Given the description of an element on the screen output the (x, y) to click on. 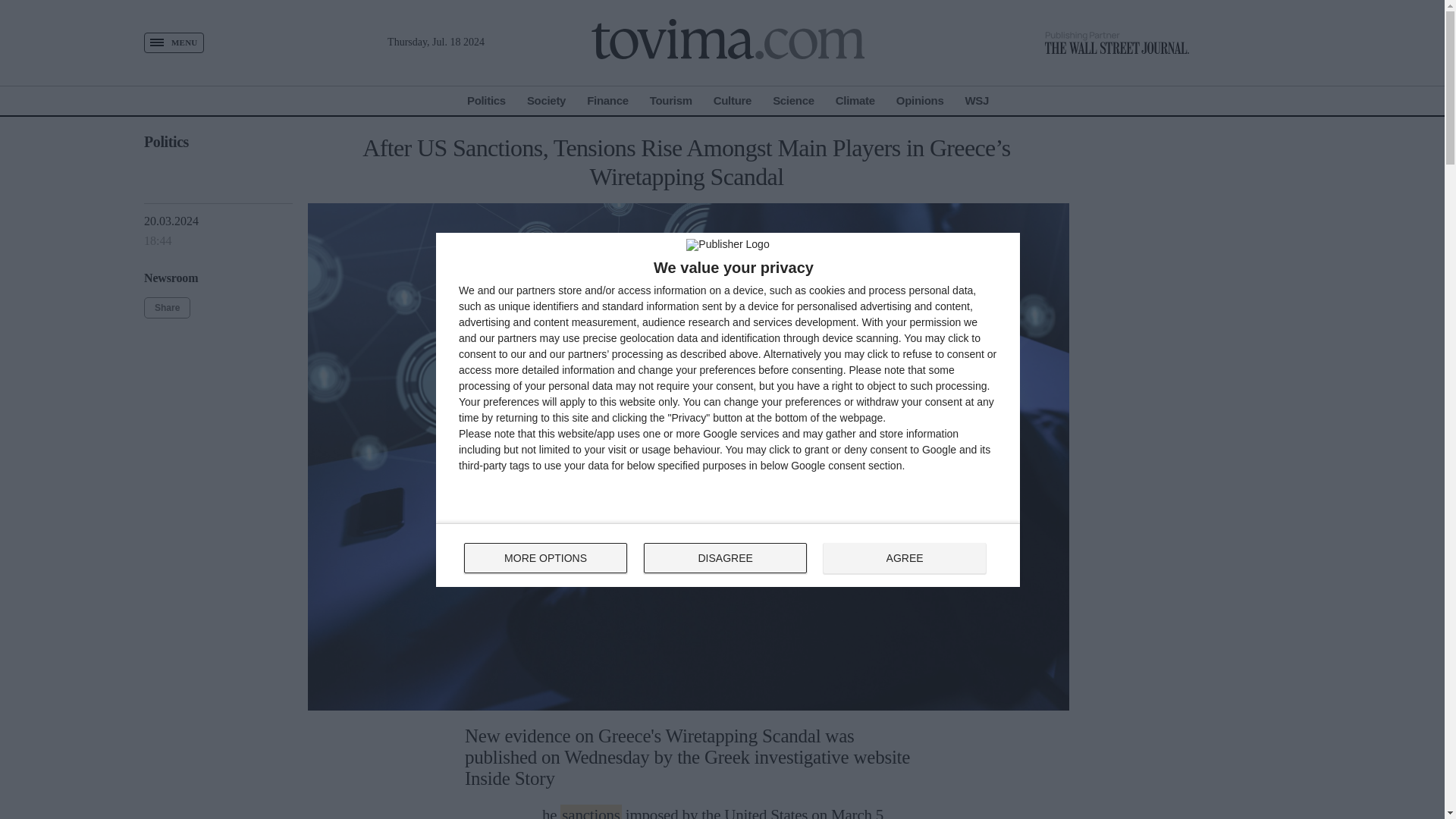
partners (535, 290)
Society (546, 100)
tovima.com (727, 42)
WSJ (975, 100)
Politics (166, 141)
Finance (607, 100)
Politics (486, 100)
Culture (732, 100)
Tourism (671, 100)
AGREE (904, 557)
Opinions (919, 100)
DISAGREE (724, 557)
Science (793, 100)
MORE OPTIONS (545, 557)
Climate (855, 100)
